Given the description of an element on the screen output the (x, y) to click on. 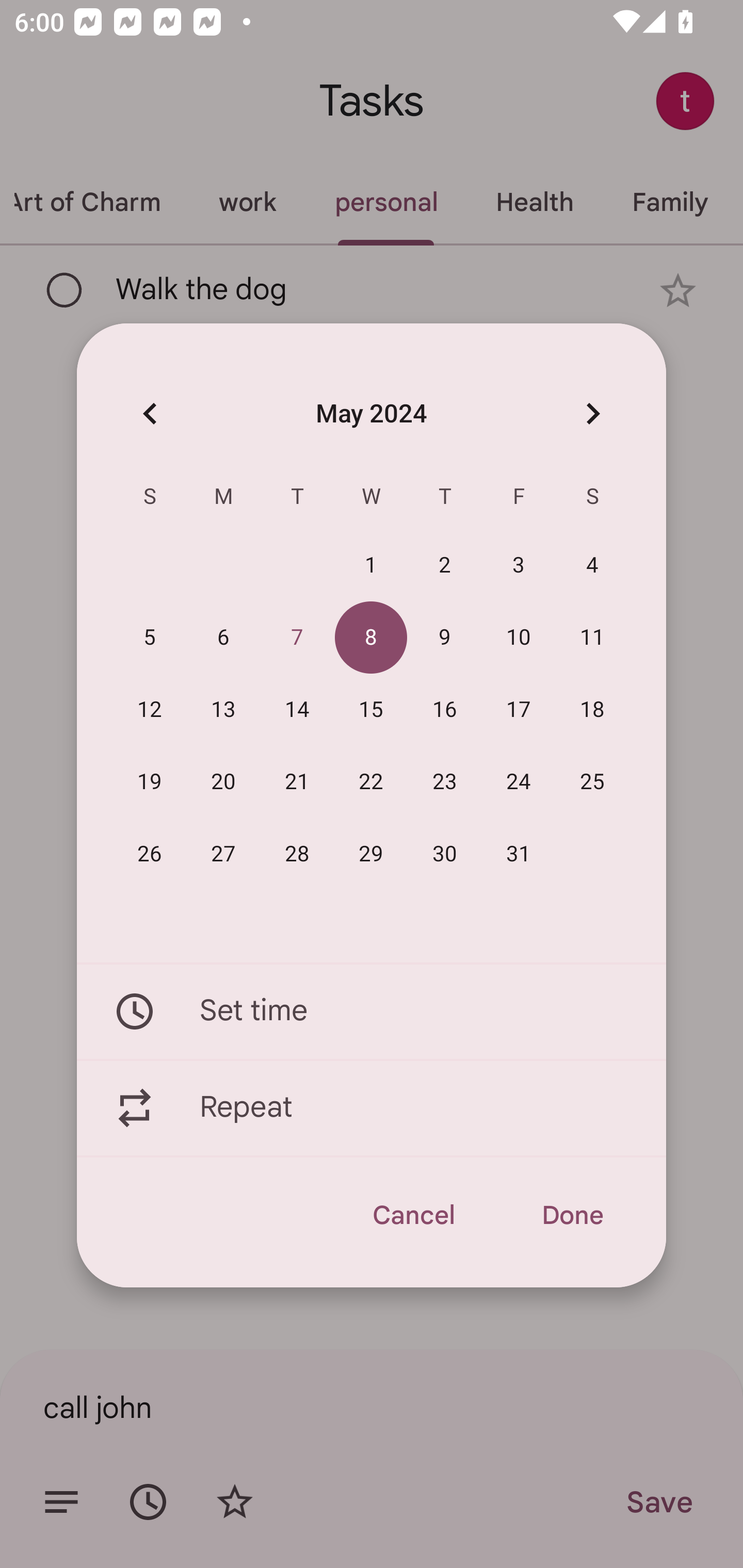
Previous month (149, 413)
Next month (592, 413)
1 01 May 2024 (370, 565)
2 02 May 2024 (444, 565)
3 03 May 2024 (518, 565)
4 04 May 2024 (592, 565)
5 05 May 2024 (149, 638)
6 06 May 2024 (223, 638)
7 07 May 2024 (297, 638)
8 08 May 2024 (370, 638)
9 09 May 2024 (444, 638)
10 10 May 2024 (518, 638)
11 11 May 2024 (592, 638)
12 12 May 2024 (149, 710)
13 13 May 2024 (223, 710)
14 14 May 2024 (297, 710)
15 15 May 2024 (370, 710)
16 16 May 2024 (444, 710)
17 17 May 2024 (518, 710)
18 18 May 2024 (592, 710)
19 19 May 2024 (149, 782)
20 20 May 2024 (223, 782)
21 21 May 2024 (297, 782)
22 22 May 2024 (370, 782)
23 23 May 2024 (444, 782)
24 24 May 2024 (518, 782)
25 25 May 2024 (592, 782)
26 26 May 2024 (149, 854)
27 27 May 2024 (223, 854)
28 28 May 2024 (297, 854)
29 29 May 2024 (370, 854)
30 30 May 2024 (444, 854)
31 31 May 2024 (518, 854)
Set time (371, 1011)
Repeat (371, 1108)
Cancel (412, 1215)
Done (571, 1215)
